Given the description of an element on the screen output the (x, y) to click on. 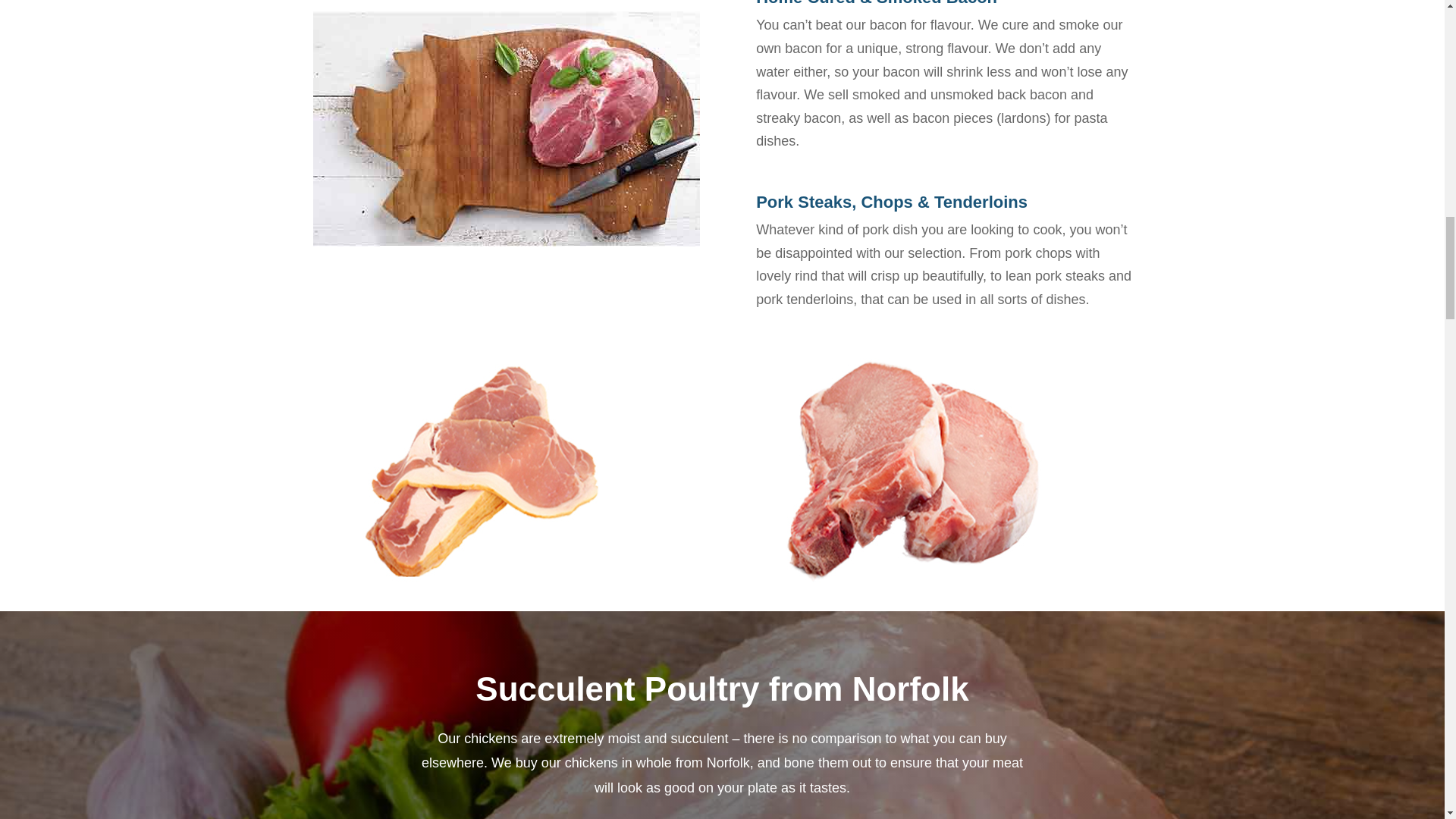
home-cured-bacon-chapman-and-son (481, 471)
chapman-and-son-butchers-tadworth (912, 471)
best-pork-from-kent (505, 128)
